Given the description of an element on the screen output the (x, y) to click on. 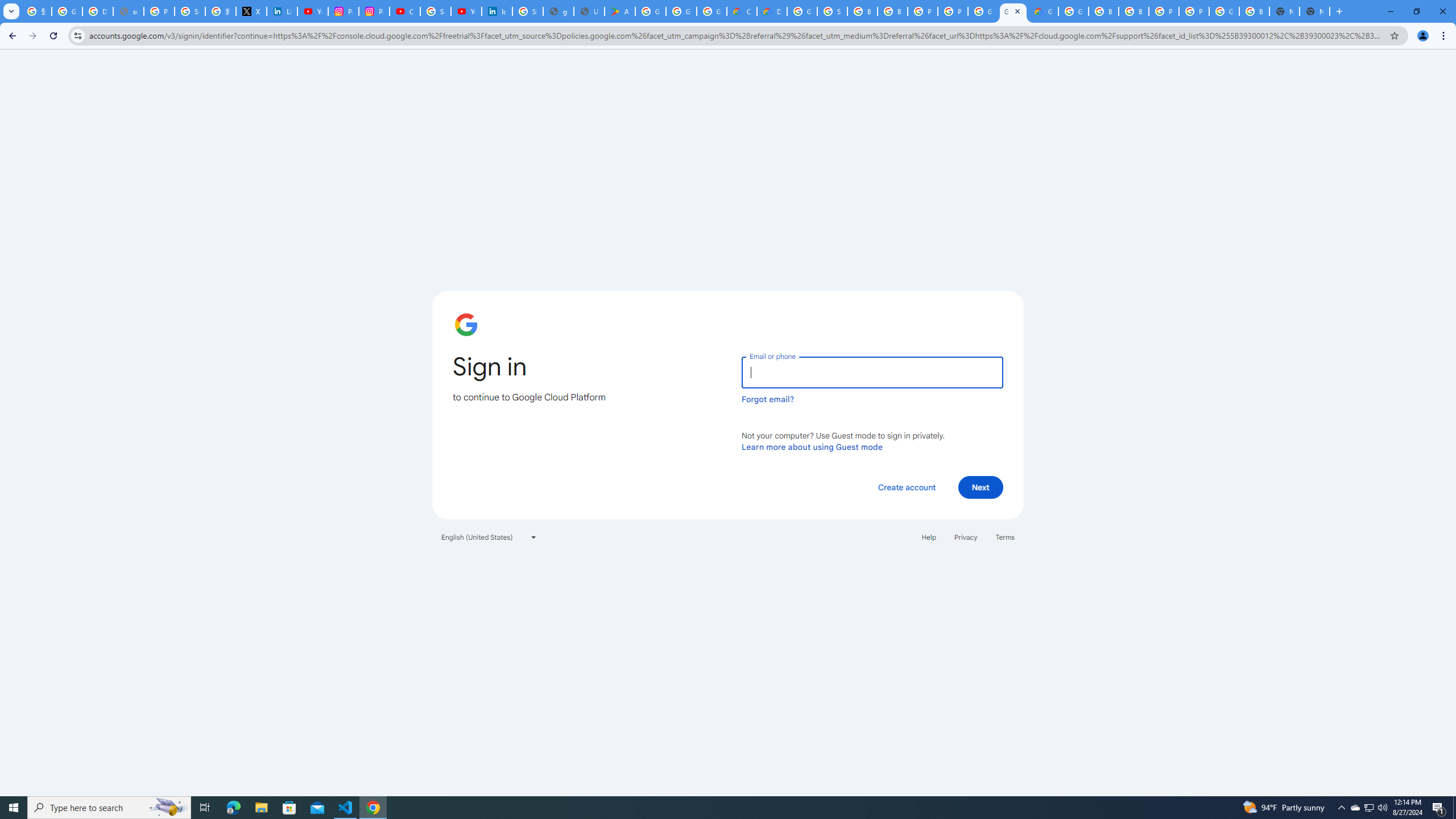
Google Cloud Platform (801, 11)
Sign in - Google Accounts (832, 11)
Email or phone (871, 372)
Google Cloud Platform (1072, 11)
support.google.com - Network error (127, 11)
Google Cloud Platform (982, 11)
